Given the description of an element on the screen output the (x, y) to click on. 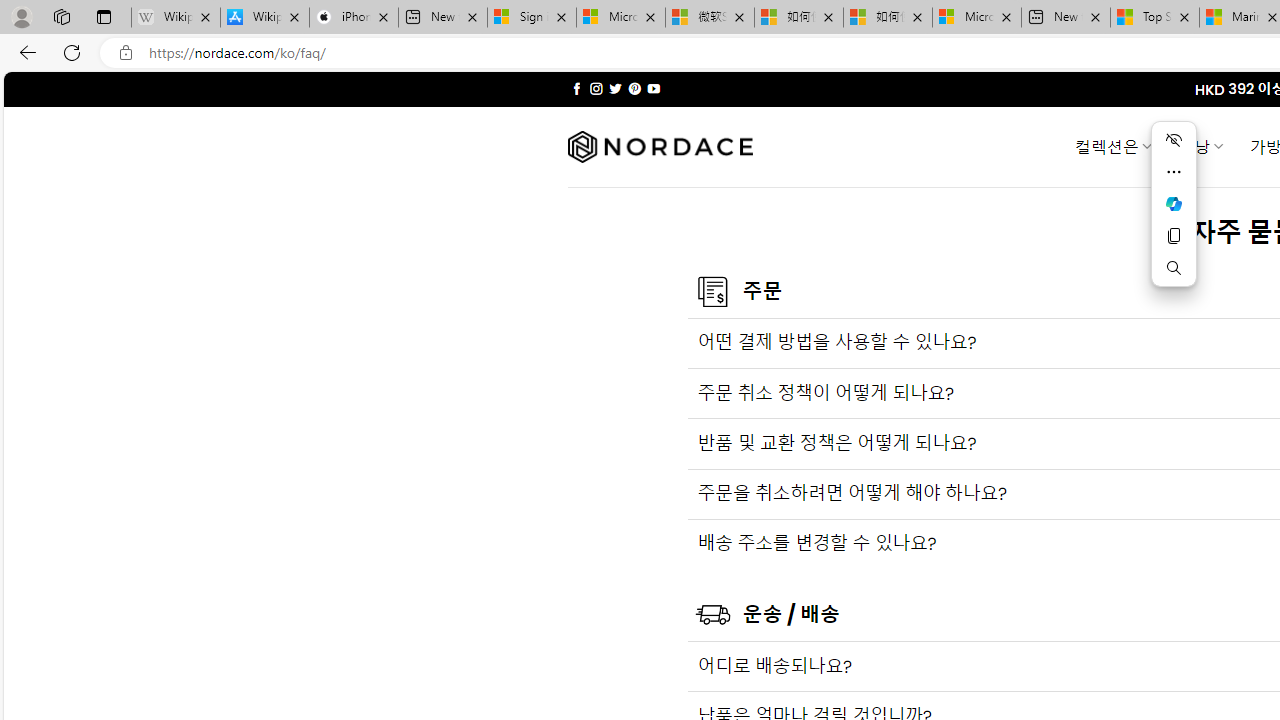
Follow on Twitter (615, 88)
More actions (1173, 171)
iPhone - Apple (353, 17)
Ask Copilot (1173, 203)
Top Stories - MSN (1155, 17)
Follow on YouTube (653, 88)
